Given the description of an element on the screen output the (x, y) to click on. 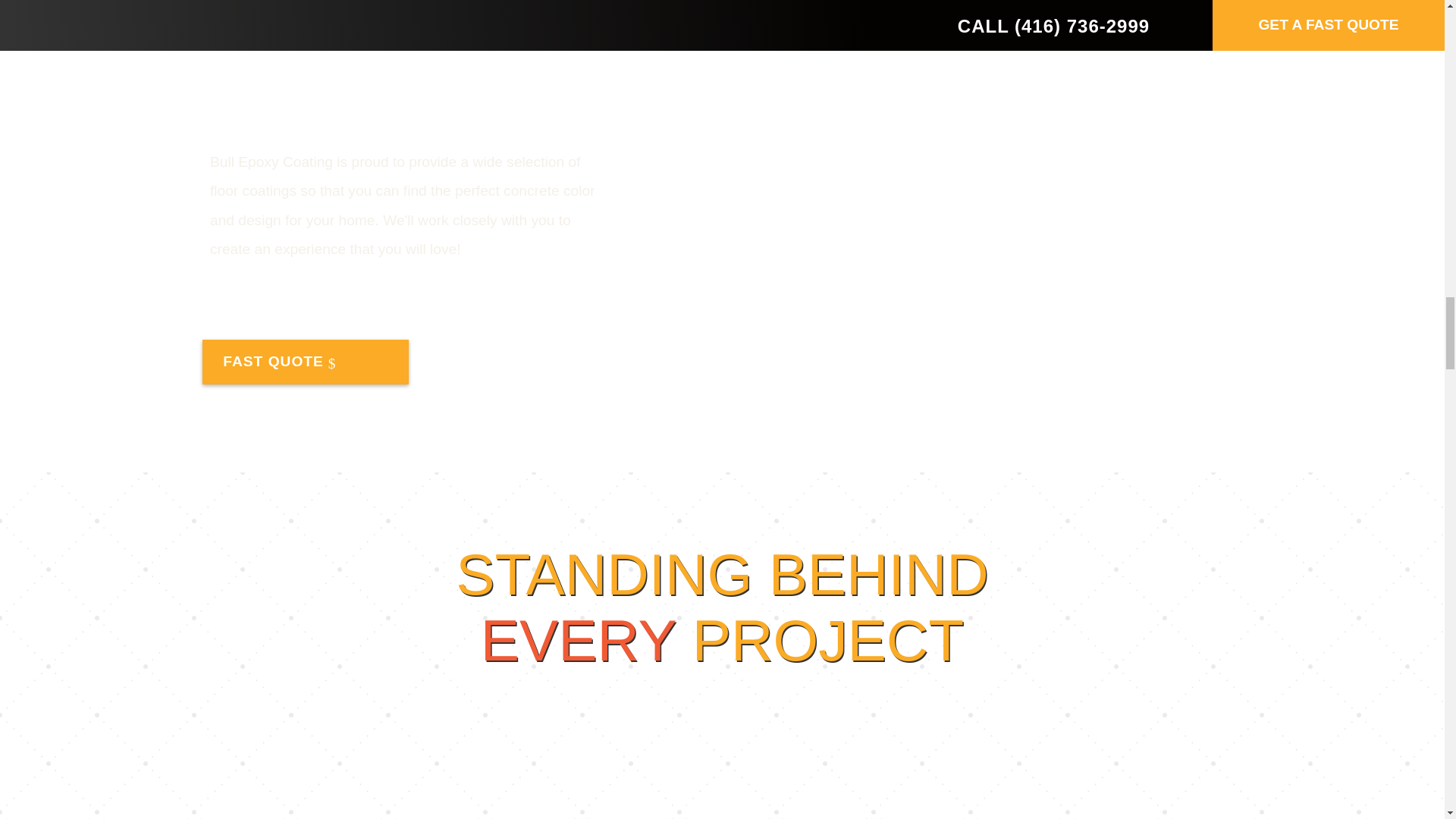
underline (562, 685)
